Given the description of an element on the screen output the (x, y) to click on. 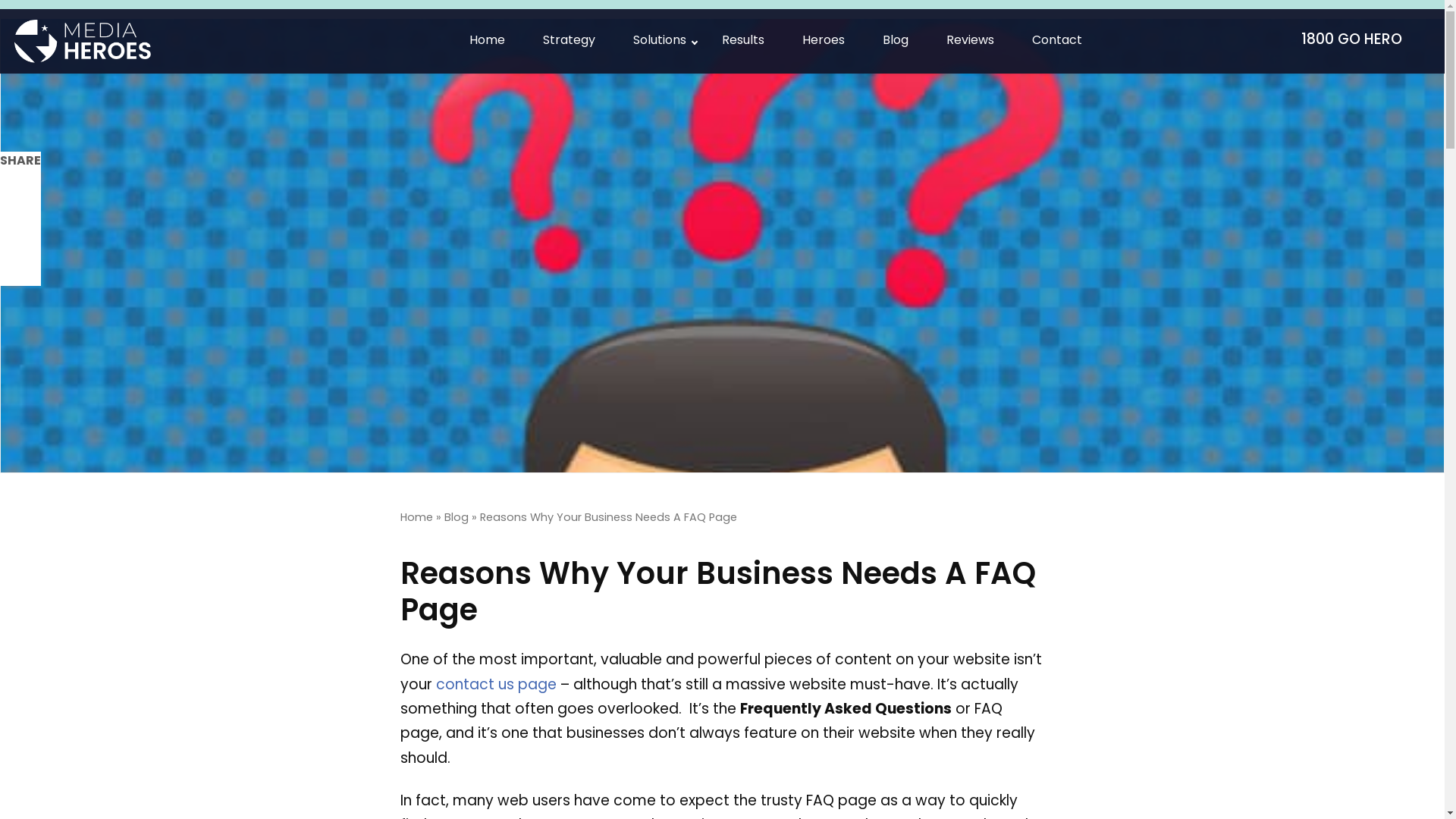
contact us page Element type: text (495, 685)
Home Element type: text (487, 41)
Home Element type: text (416, 518)
Reviews Element type: text (970, 41)
Solutions Element type: text (658, 41)
Blog Element type: text (456, 518)
Results Element type: text (742, 41)
Strategy Element type: text (569, 41)
Blog Element type: text (895, 41)
Contact Element type: text (1057, 41)
Heroes Element type: text (823, 41)
1800 GO HERO Element type: text (1358, 40)
